Given the description of an element on the screen output the (x, y) to click on. 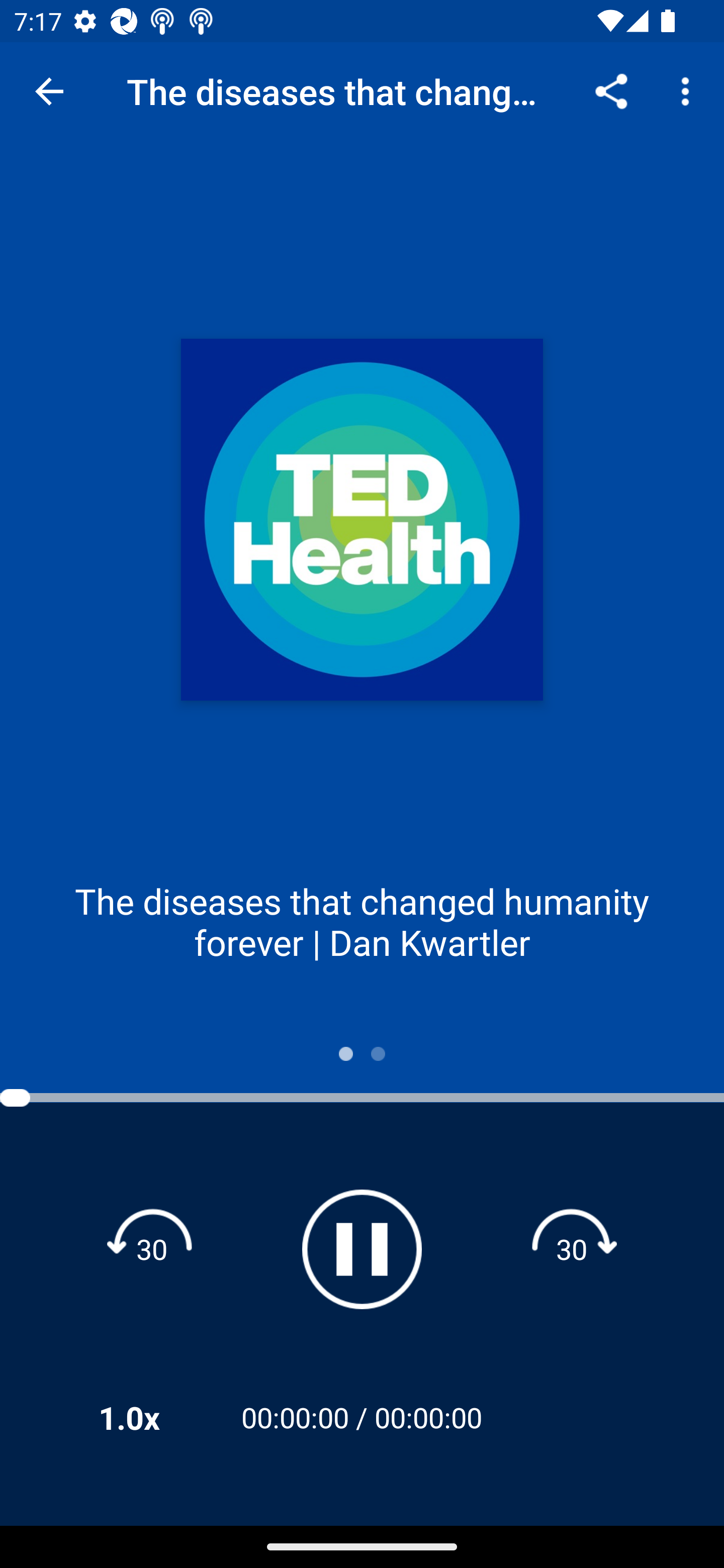
Navigate up (49, 91)
Share... (611, 90)
More options (688, 90)
Pause (361, 1249)
Rewind (151, 1248)
Fast forward (571, 1248)
1.0x Playback Speeds (154, 1417)
00:00:00 (428, 1417)
